Given the description of an element on the screen output the (x, y) to click on. 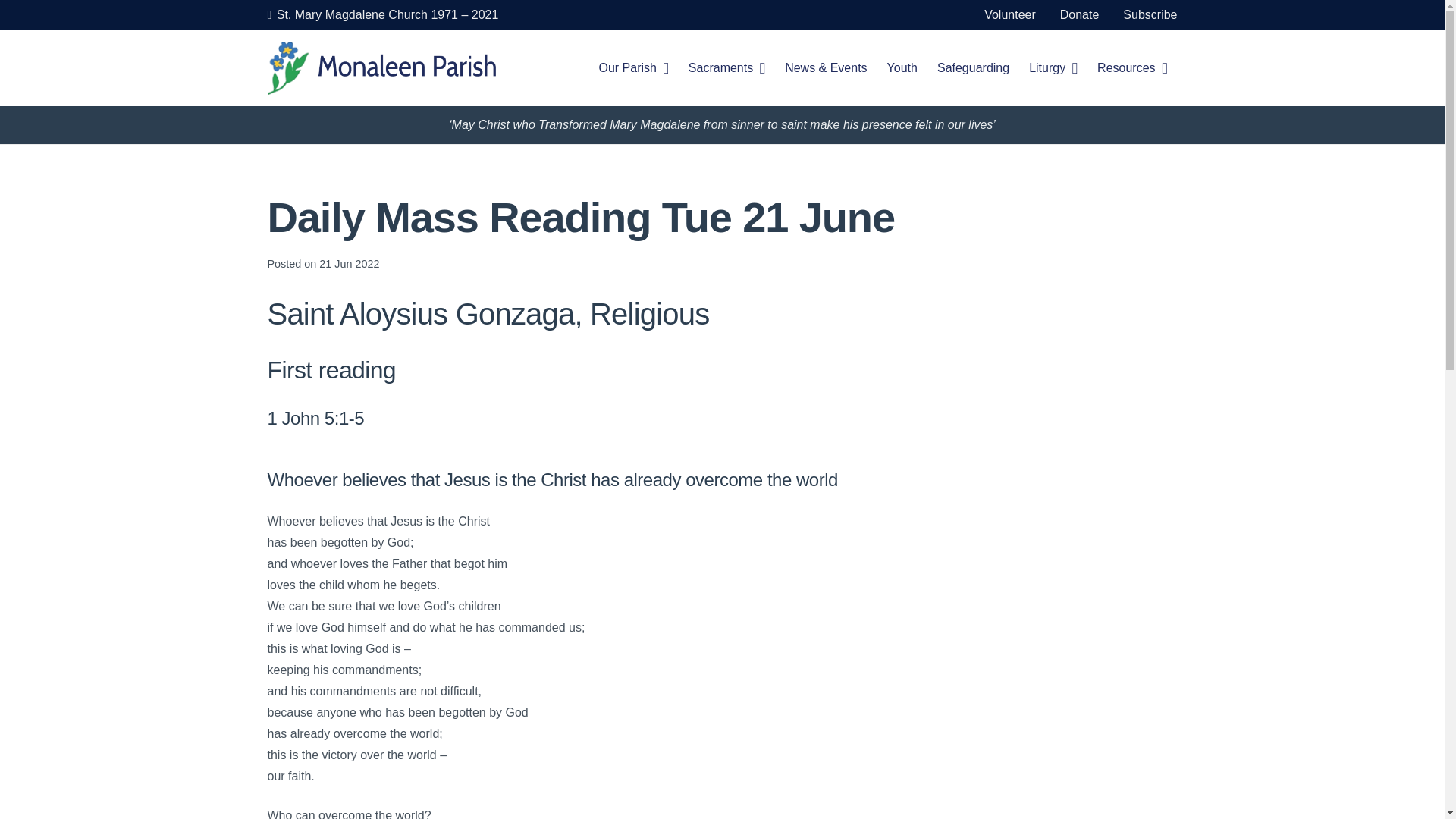
Safeguarding (973, 68)
Sacraments (726, 68)
Donate (1079, 14)
Liturgy (1053, 68)
Volunteer (1009, 14)
Our Parish (633, 68)
Subscribe (1149, 14)
